Given the description of an element on the screen output the (x, y) to click on. 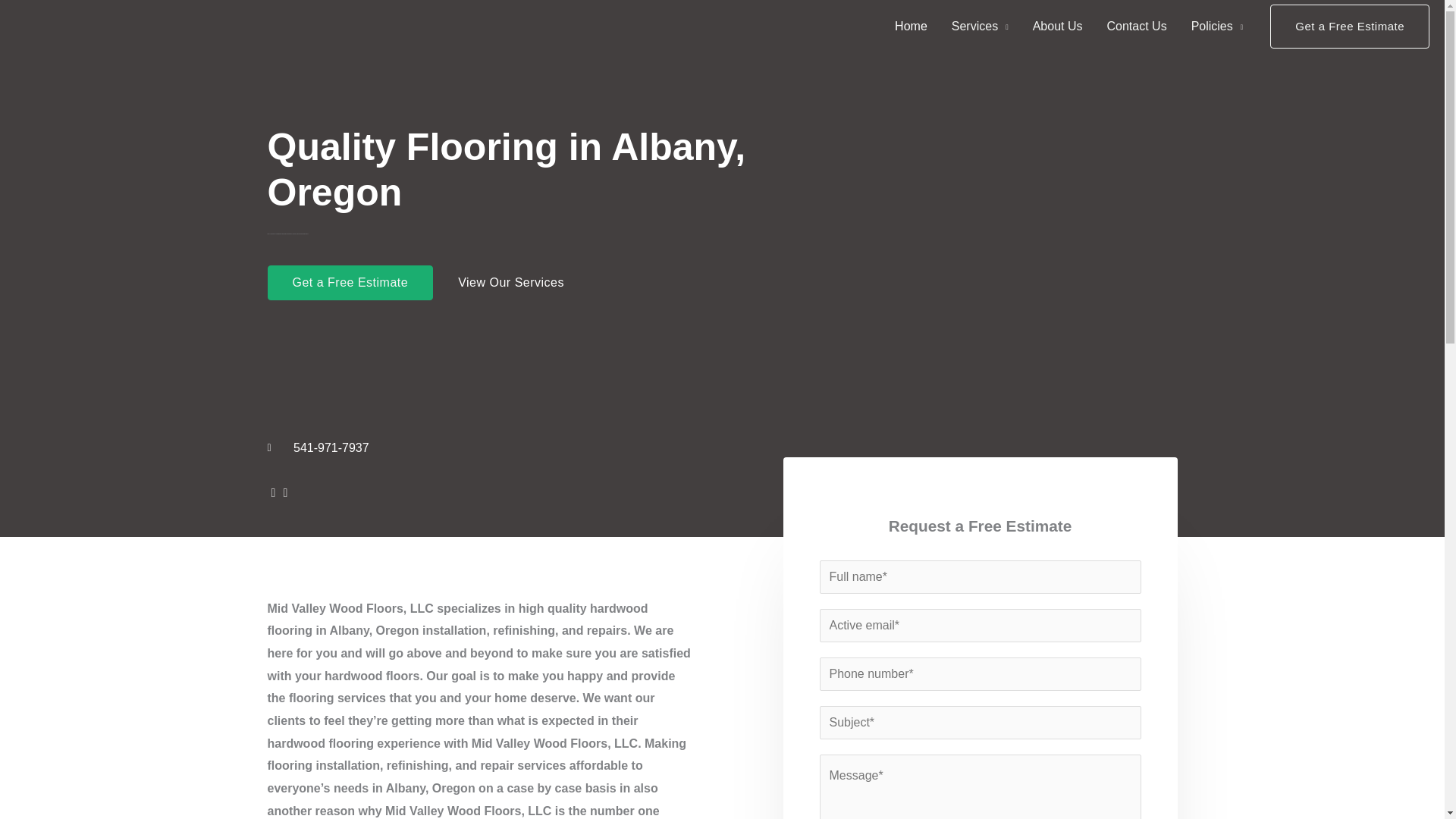
Facebook (272, 492)
Home (910, 26)
Policies (1217, 26)
View Our Services (510, 282)
541-971-7937 (575, 447)
Contact Us (1135, 26)
Services (979, 26)
Twitter (285, 492)
About Us (1057, 26)
Get a Free Estimate (1349, 26)
Get a Free Estimate (349, 282)
